Given the description of an element on the screen output the (x, y) to click on. 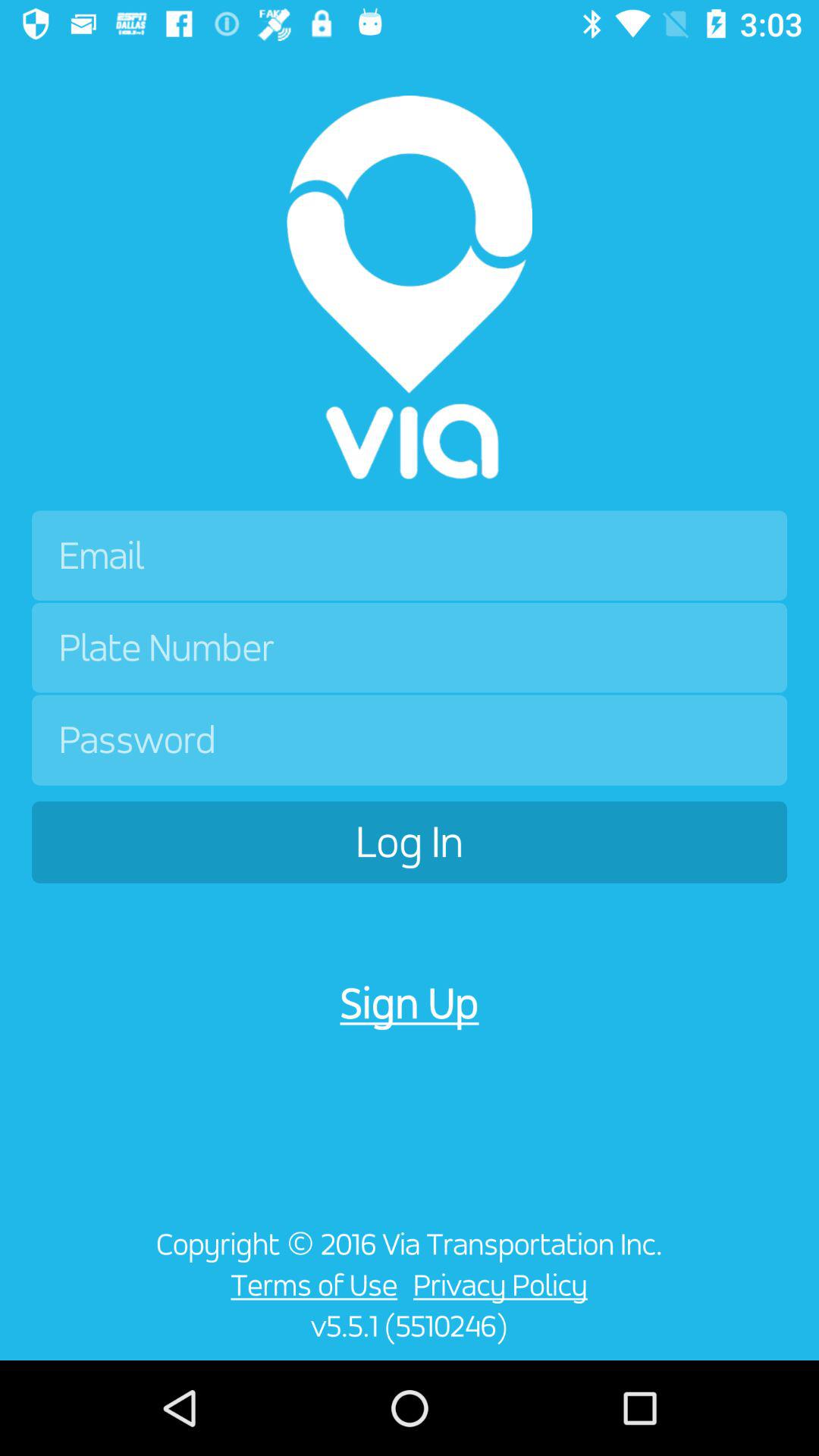
launch the item next to the terms of use icon (65, 1294)
